Given the description of an element on the screen output the (x, y) to click on. 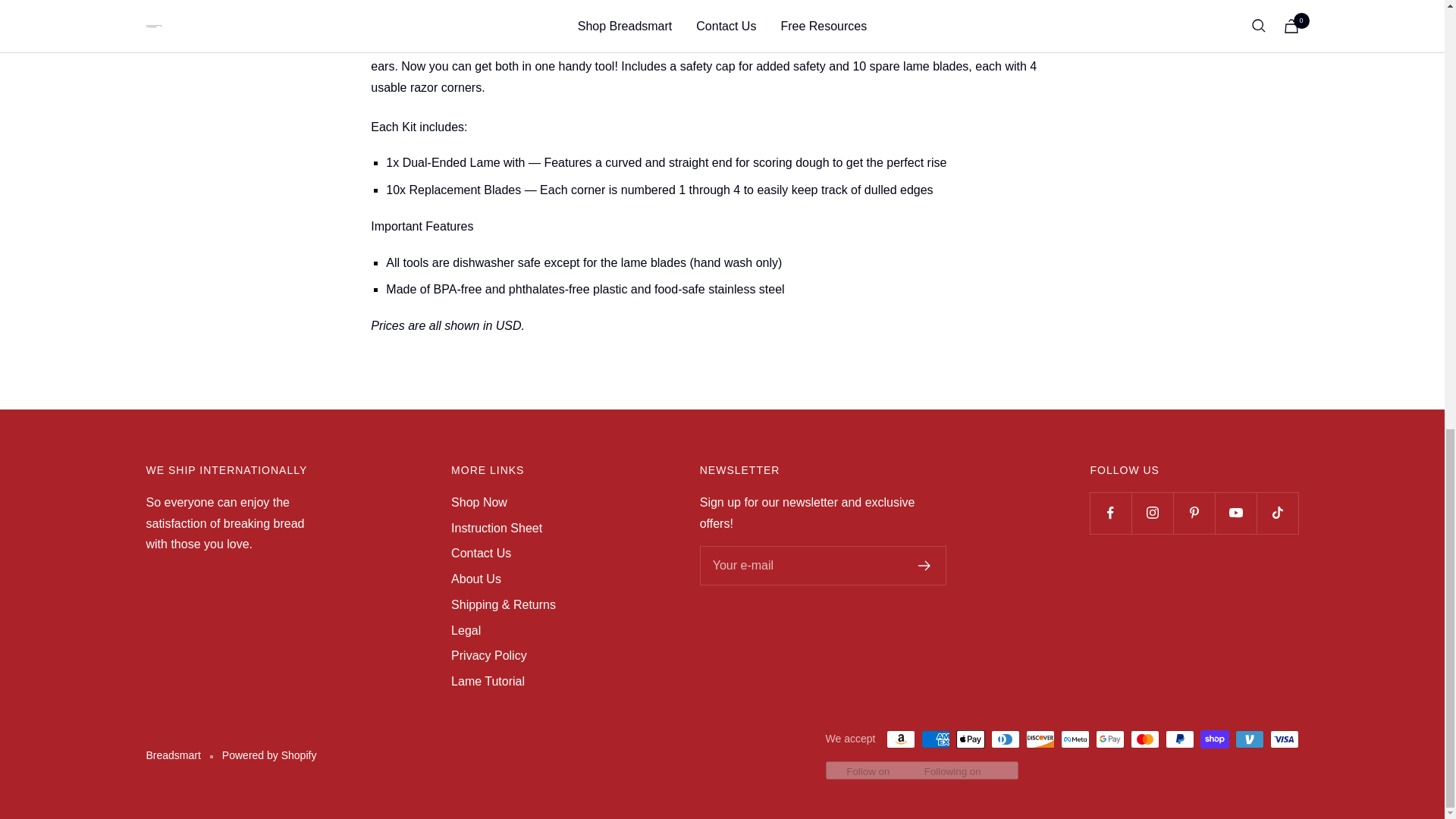
Register (924, 565)
